Given the description of an element on the screen output the (x, y) to click on. 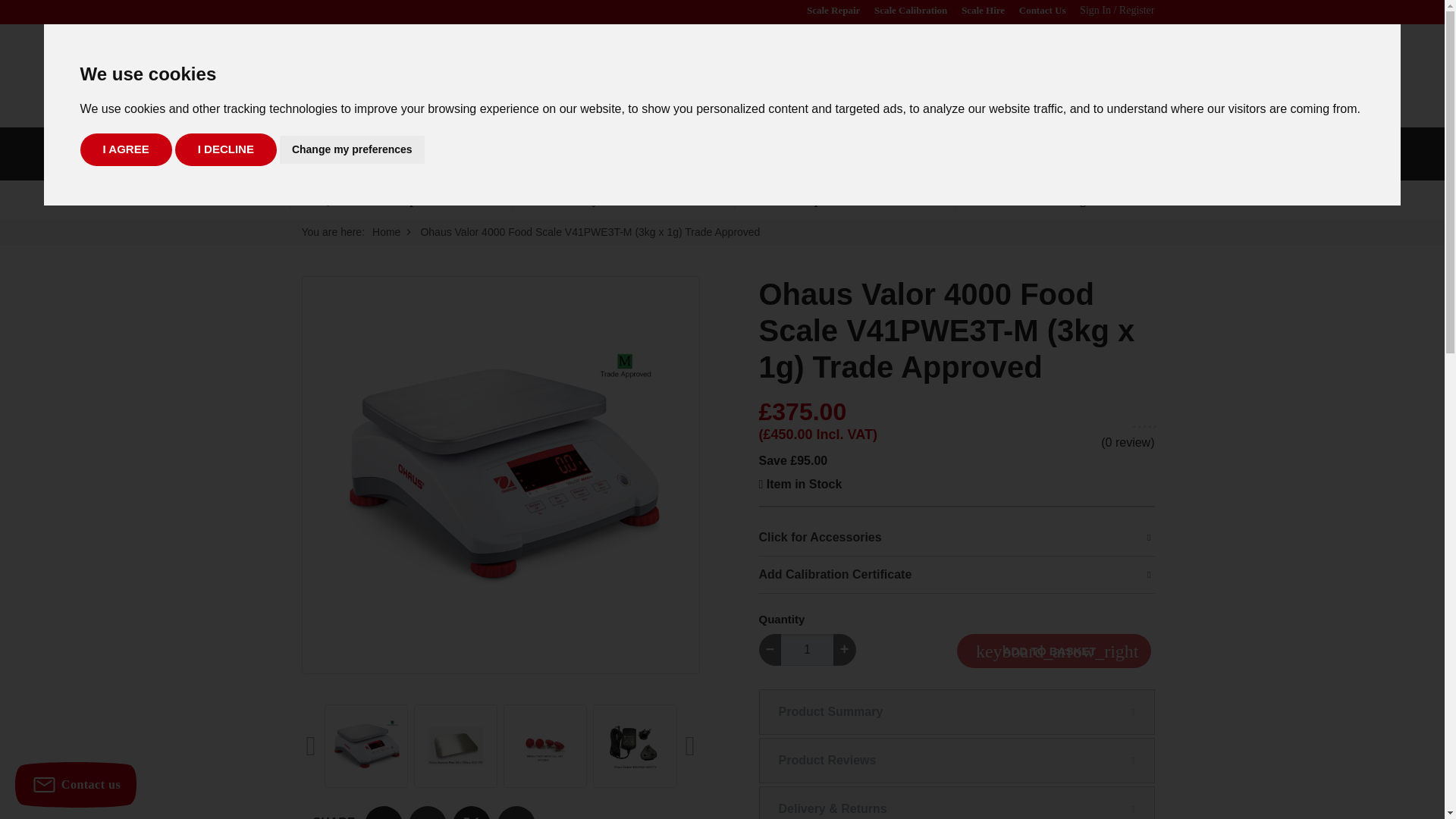
Contact Us (1042, 9)
0 (1150, 75)
Scale Calibration (911, 9)
Change my preferences (352, 149)
I DECLINE (225, 149)
Scale Hire (982, 9)
Scale Repair (833, 9)
01296 393133 (986, 85)
I AGREE (125, 149)
1 (807, 649)
INDUSTRY SCALES (333, 154)
